Given the description of an element on the screen output the (x, y) to click on. 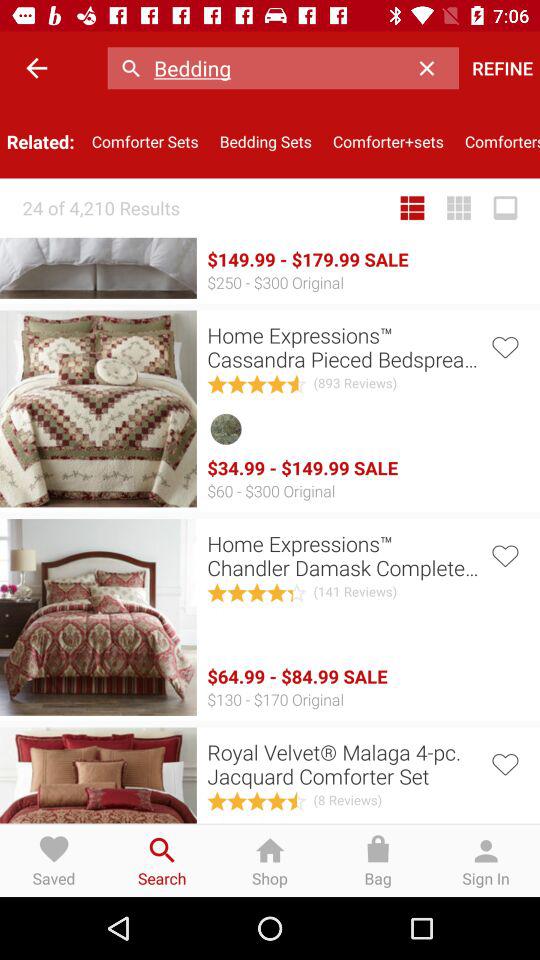
favorite touch (504, 553)
